Given the description of an element on the screen output the (x, y) to click on. 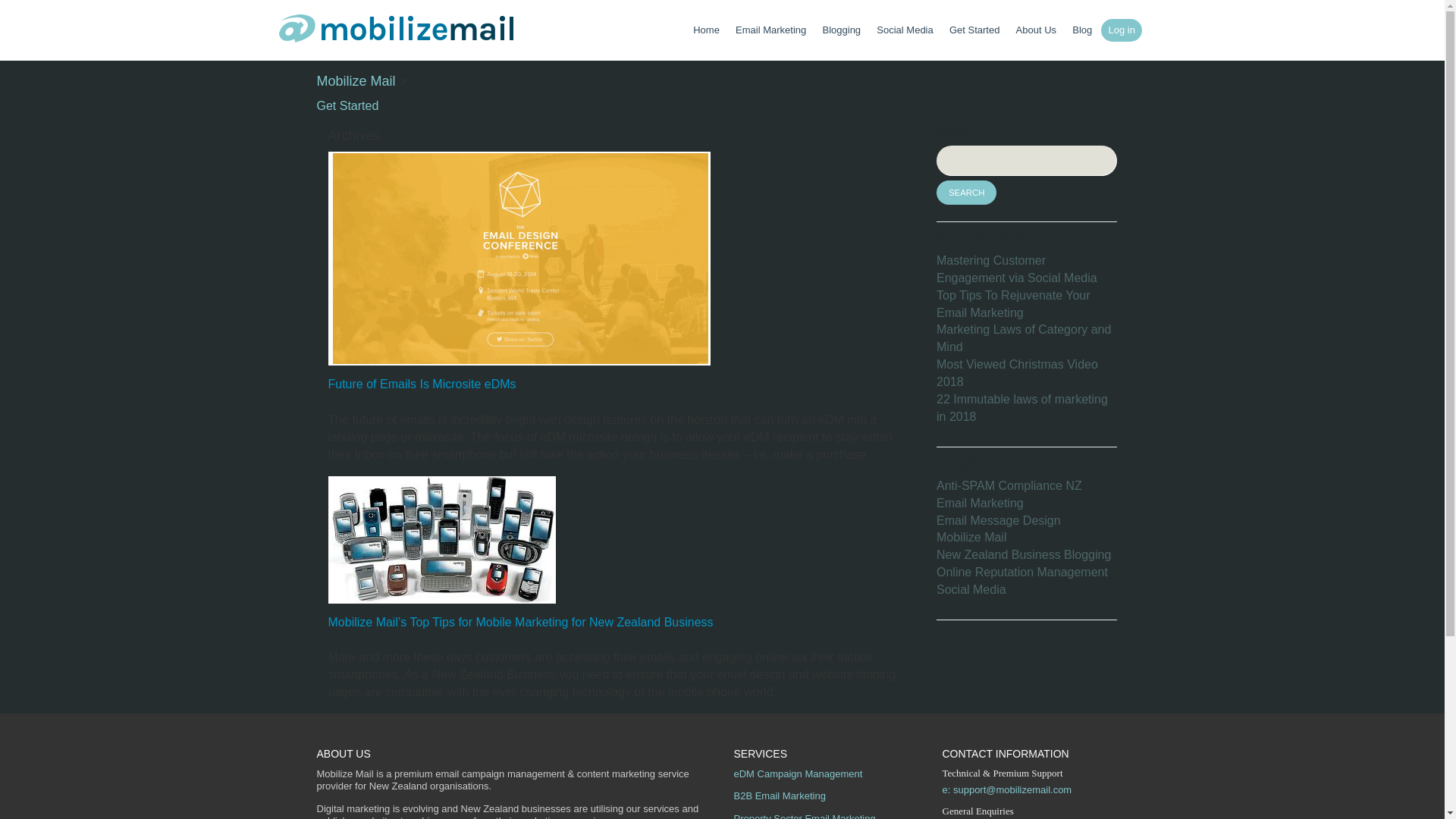
Most Viewed Christmas Video 2018 (1016, 372)
22 Immutable laws of marketing in 2018 (1022, 408)
eDM Campaign Management (798, 773)
Property Sector Email Marketing (804, 816)
Anti-SPAM Compliance NZ (1008, 485)
Log in (1120, 29)
Home (705, 29)
Mobilize Mail (356, 80)
MobilizeMail (396, 32)
Top Tips To Rejuvenate Your Email Marketing (1013, 304)
